Given the description of an element on the screen output the (x, y) to click on. 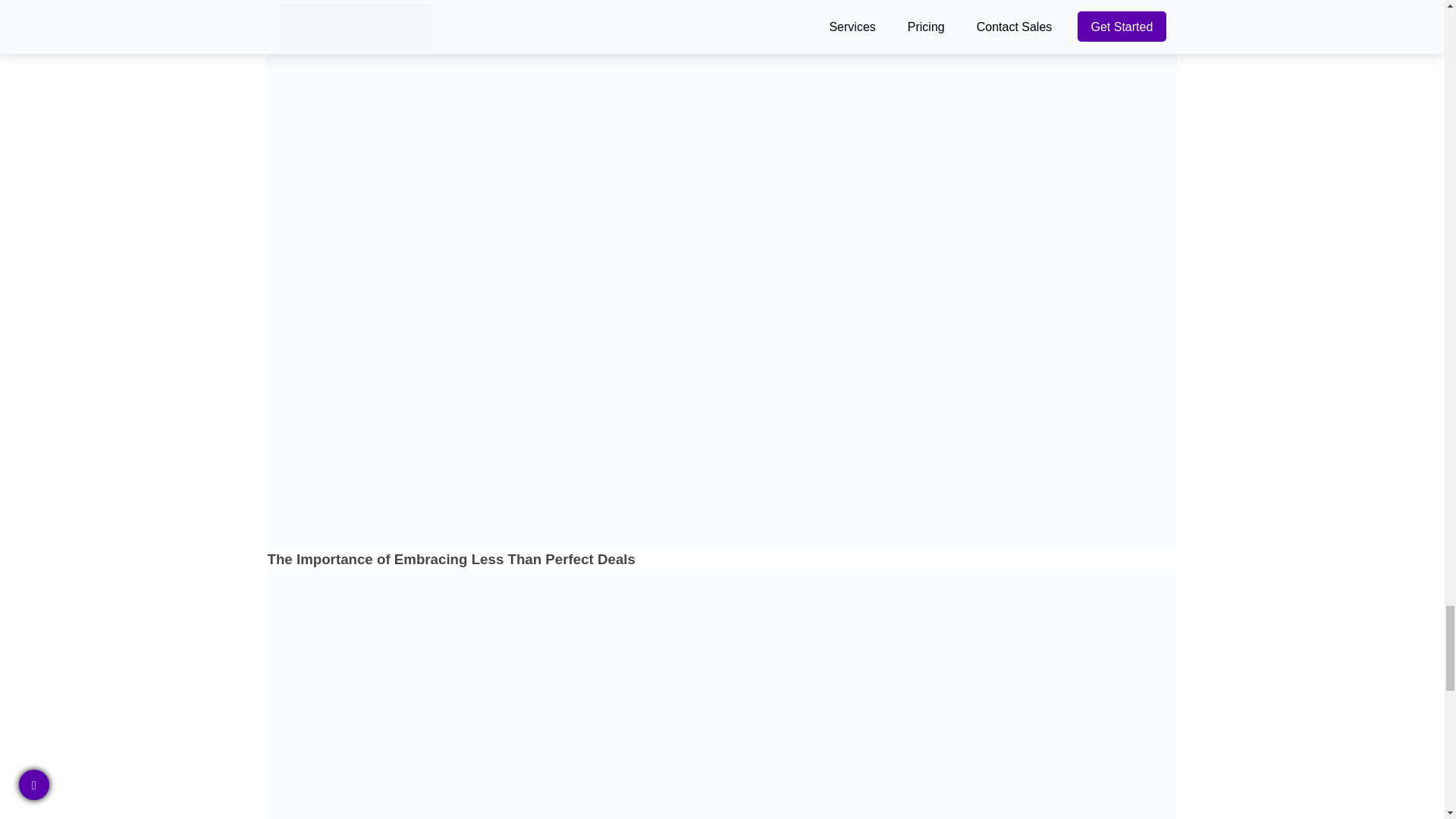
The Importance of Embracing Less Than Perfect Deals (721, 558)
